Given the description of an element on the screen output the (x, y) to click on. 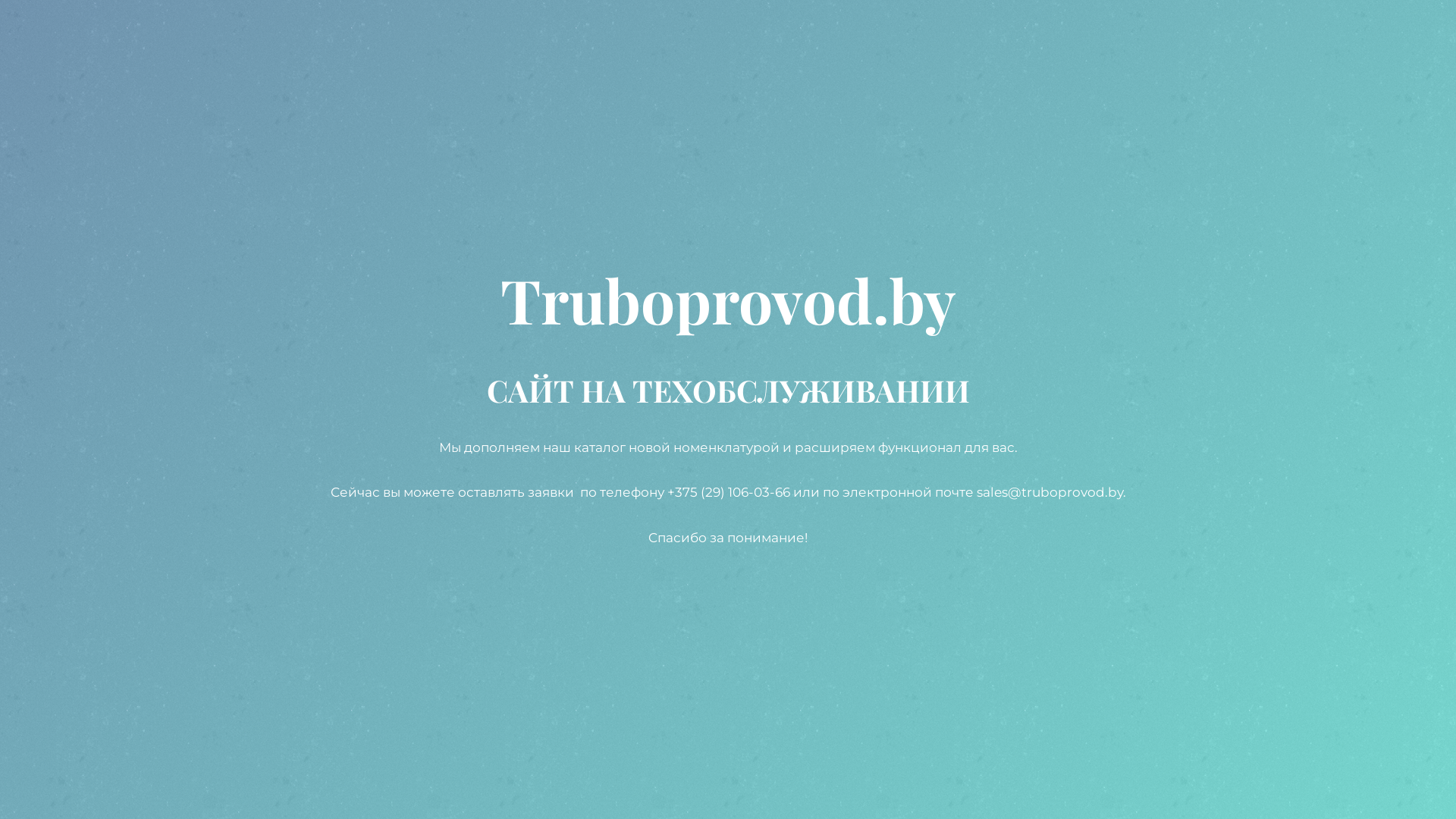
Truboprovod.by Element type: text (728, 313)
